Given the description of an element on the screen output the (x, y) to click on. 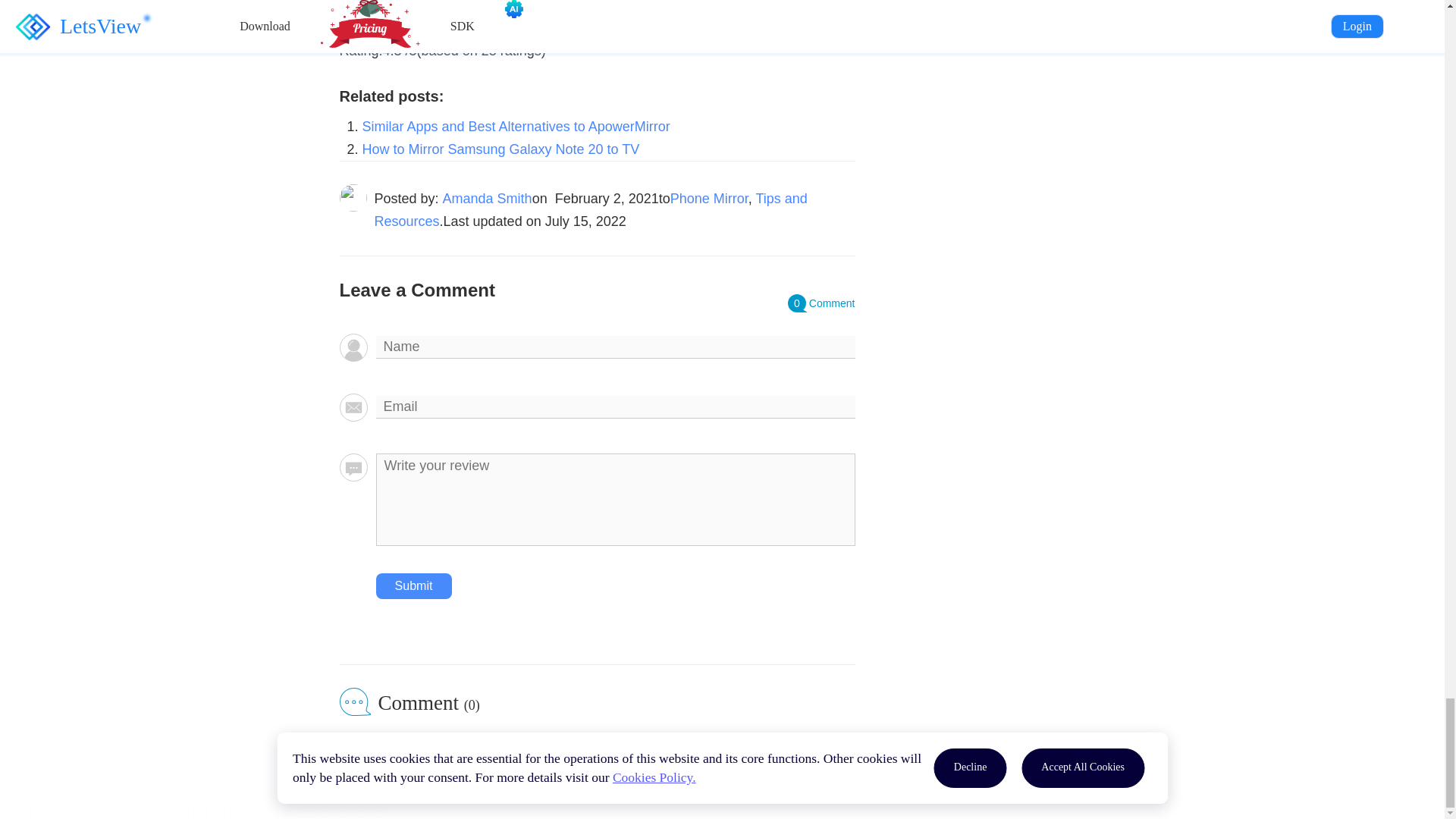
Similar Apps and Best Alternatives to ApowerMirror (515, 126)
0 Comment (821, 303)
How to Mirror Samsung Galaxy Note 20 to TV (501, 149)
Tips and Resources (591, 209)
Similar Apps and Best Alternatives to ApowerMirror (515, 126)
Phone Mirror (708, 198)
Amanda Smith (487, 198)
How to Mirror Samsung Galaxy Note 20 to TV (501, 149)
